Given the description of an element on the screen output the (x, y) to click on. 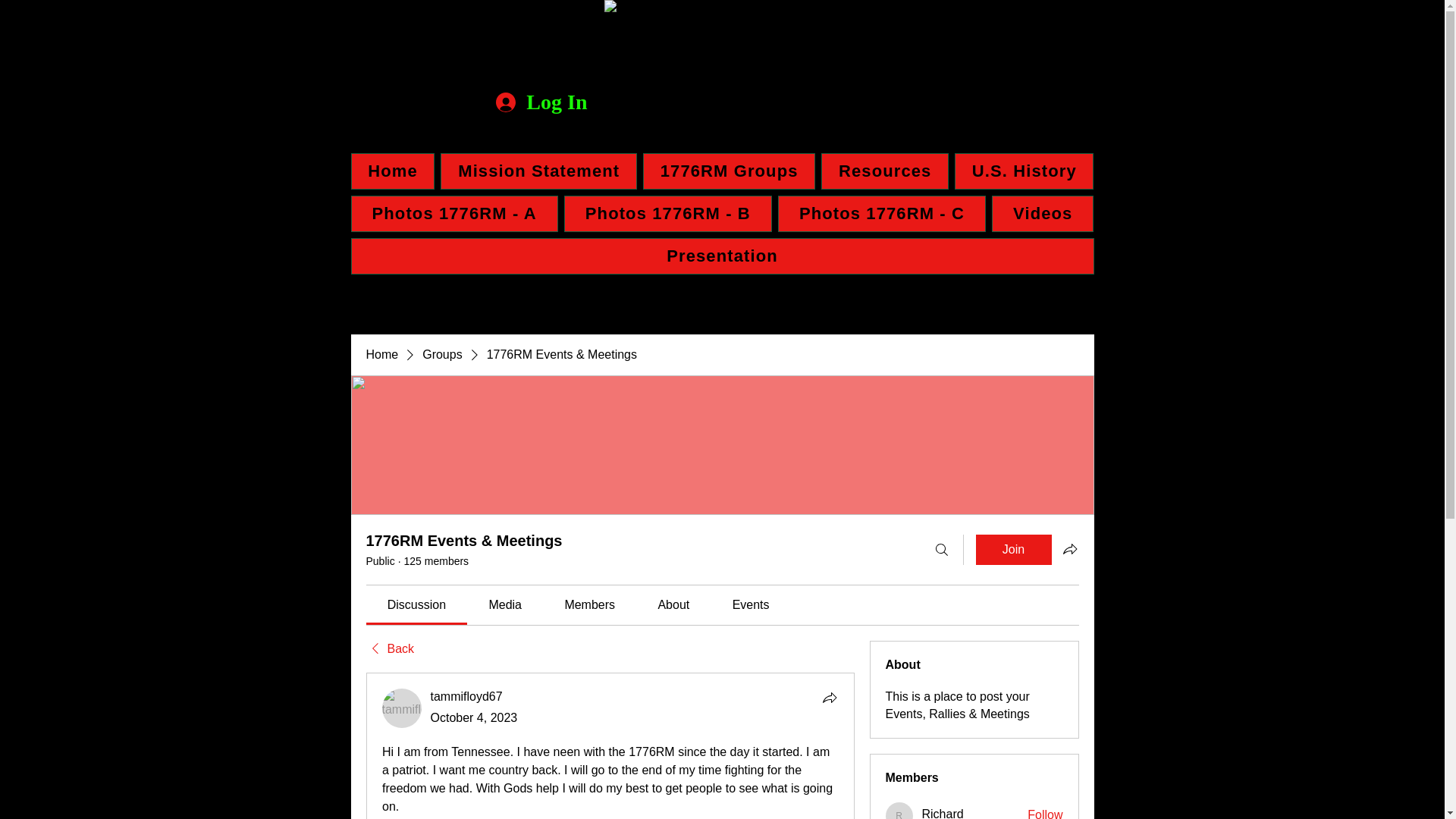
Resources (885, 171)
U.S. History (1024, 171)
tammifloyd67 (466, 696)
Log In (540, 101)
Home (391, 171)
Photos 1776RM - B (667, 213)
Richard (942, 813)
Videos (1042, 213)
Presentation (721, 256)
tammifloyd67 (401, 708)
